Given the description of an element on the screen output the (x, y) to click on. 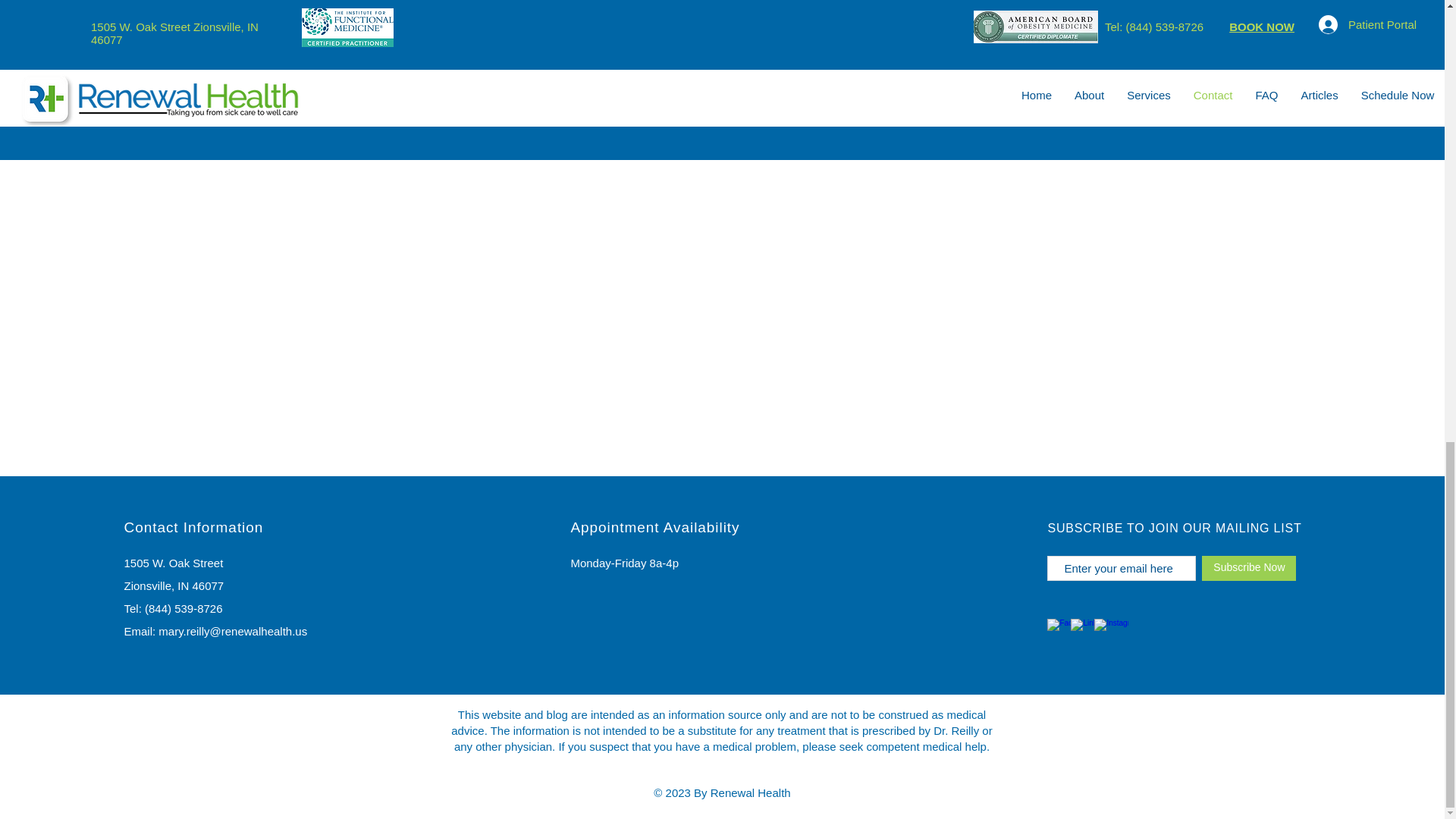
Subscribe Now (1248, 568)
